Given the description of an element on the screen output the (x, y) to click on. 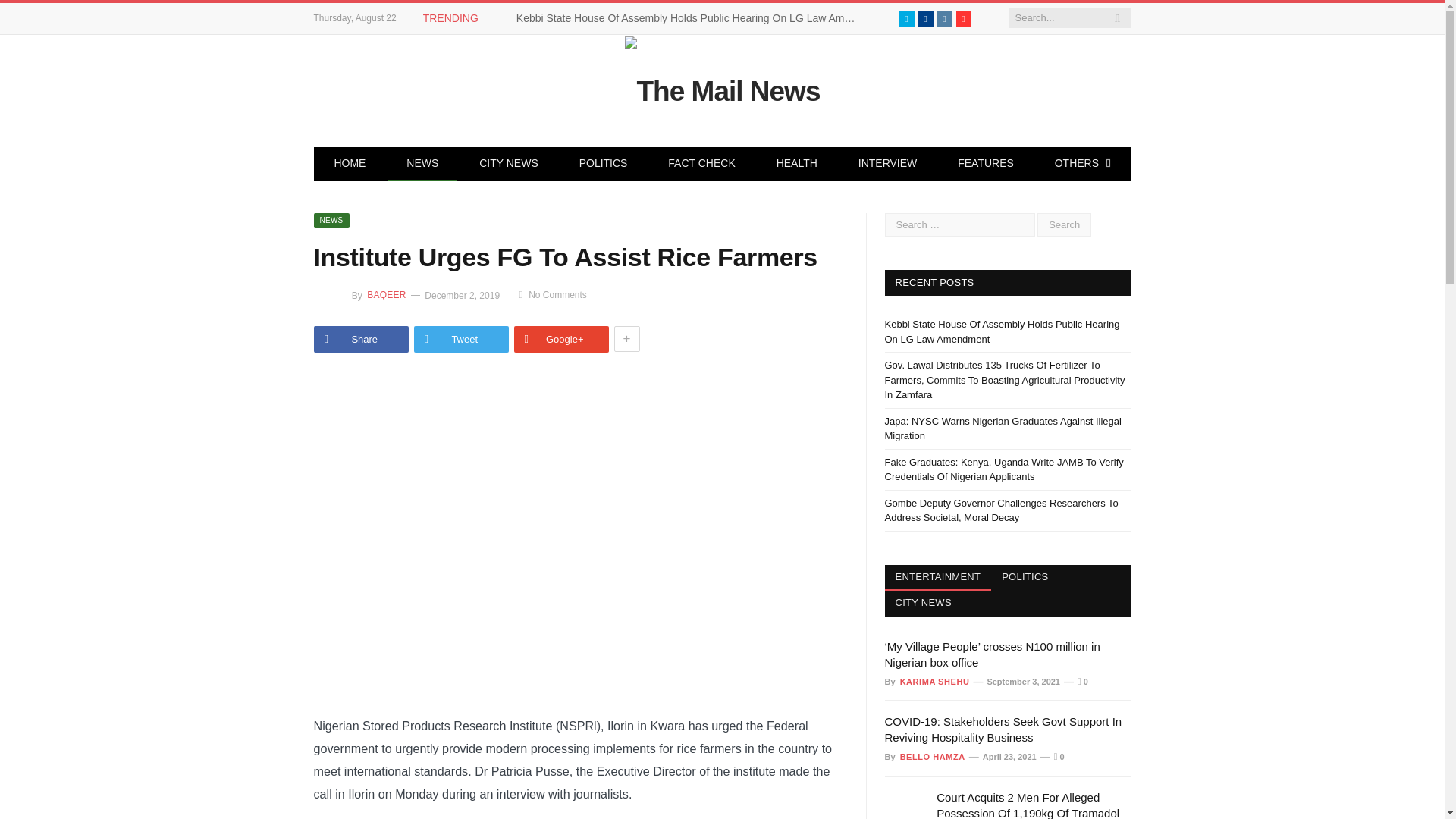
NEWS (422, 163)
YouTube (963, 18)
Twitter (906, 18)
Instagram (944, 18)
OTHERS (1082, 163)
FEATURES (985, 163)
No Comments (552, 294)
Posts by Baqeer (385, 294)
NEWS (331, 220)
FACT CHECK (701, 163)
